Given the description of an element on the screen output the (x, y) to click on. 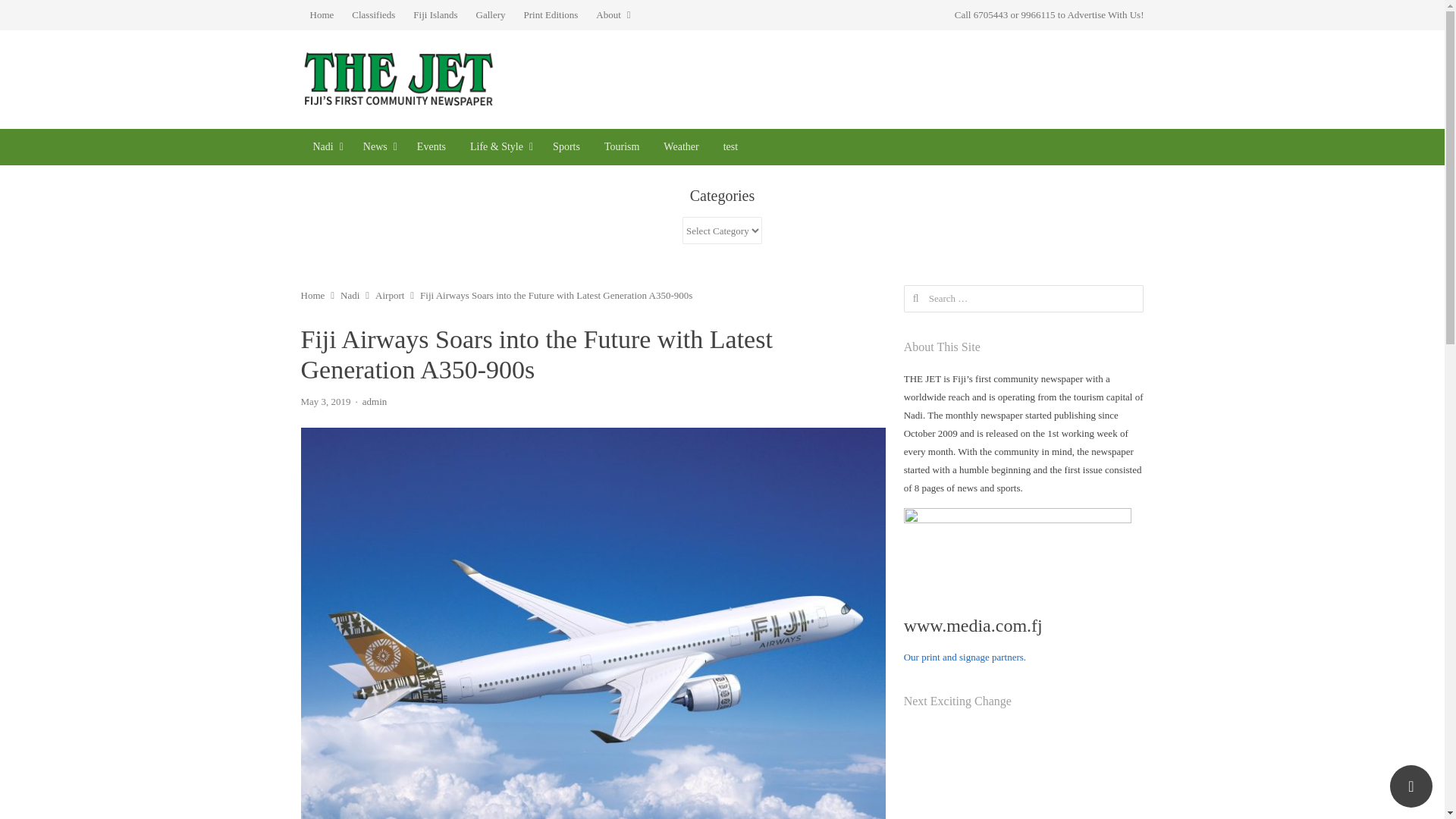
Fiji Islands (434, 14)
Scroll to top (1411, 785)
Home (320, 14)
Print Editions (549, 14)
Gallery (491, 14)
Events (431, 146)
scroll to top (1411, 785)
Airport (389, 295)
Nadi (324, 146)
Tourism (621, 146)
